Given the description of an element on the screen output the (x, y) to click on. 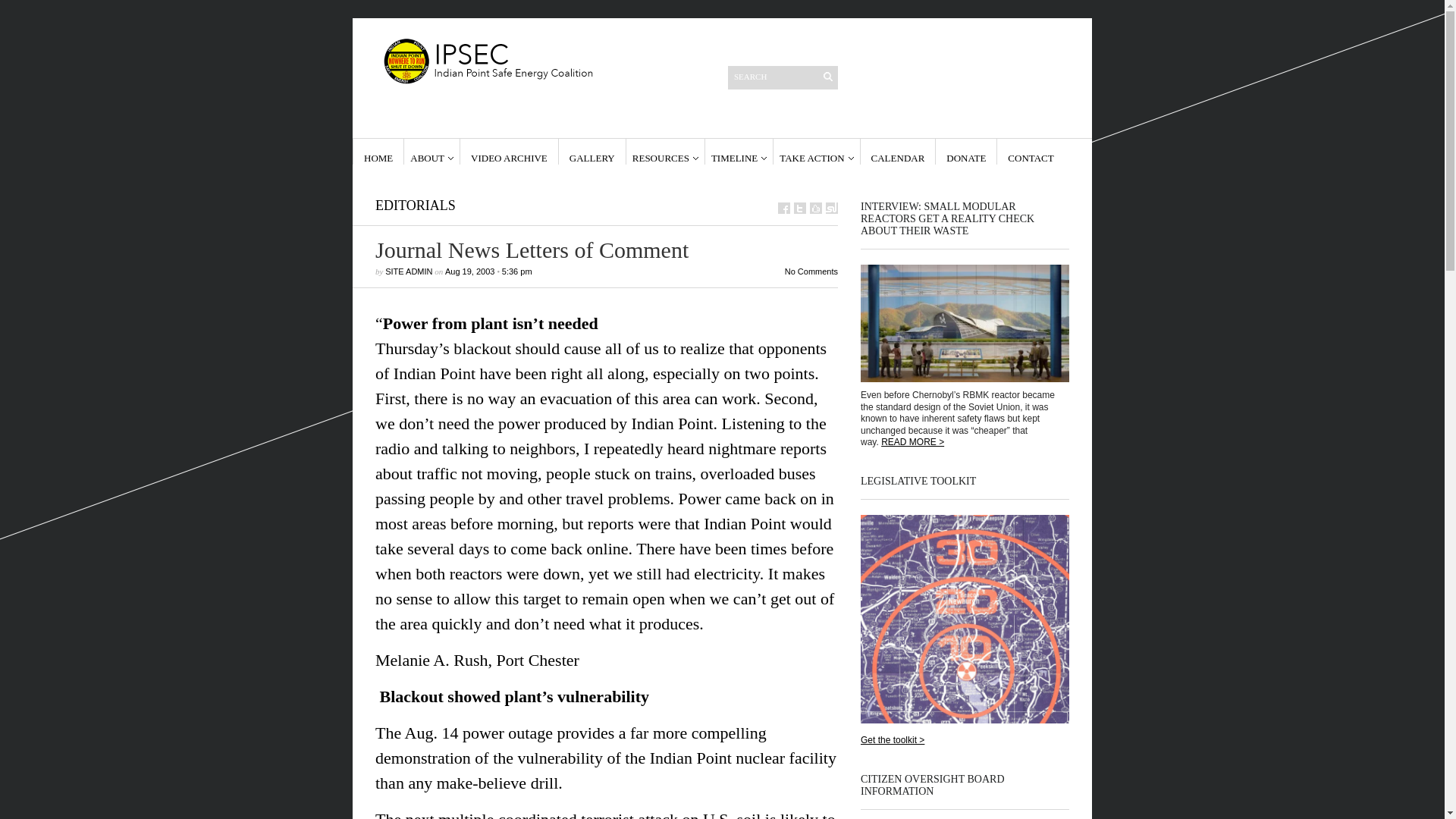
Search (773, 76)
Posts by Site Admin (408, 271)
Share on Facebook (783, 207)
Spread the word on Twitter (799, 207)
Bookmark on Del.icio.us (815, 207)
Share on StumbleUpon (831, 207)
